Given the description of an element on the screen output the (x, y) to click on. 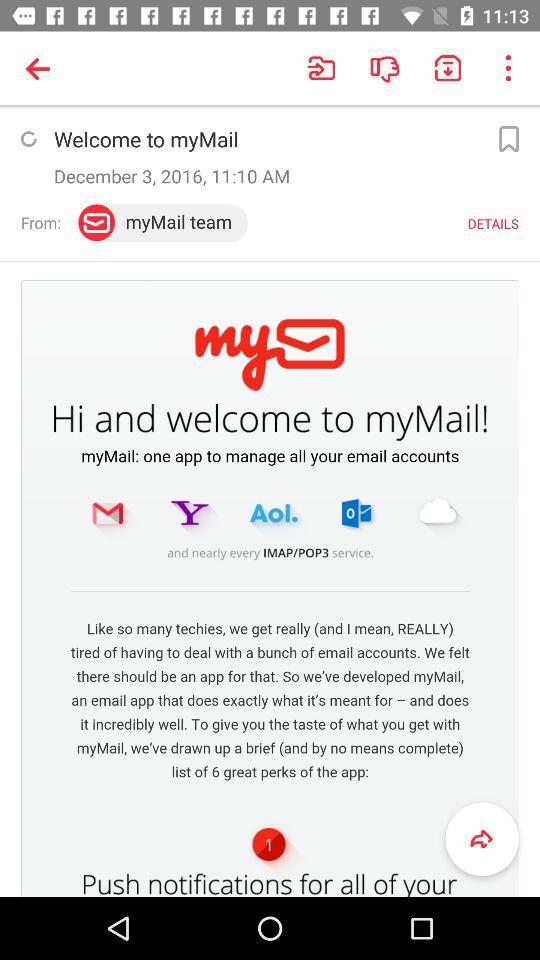
click on right arrow at the bottom (482, 839)
red color icon below the text december (96, 222)
click the icon left side of dislike icon (322, 68)
click on the symbol which is above welcomemail (41, 68)
select the details option (493, 223)
click on three dots (507, 68)
